Given the description of an element on the screen output the (x, y) to click on. 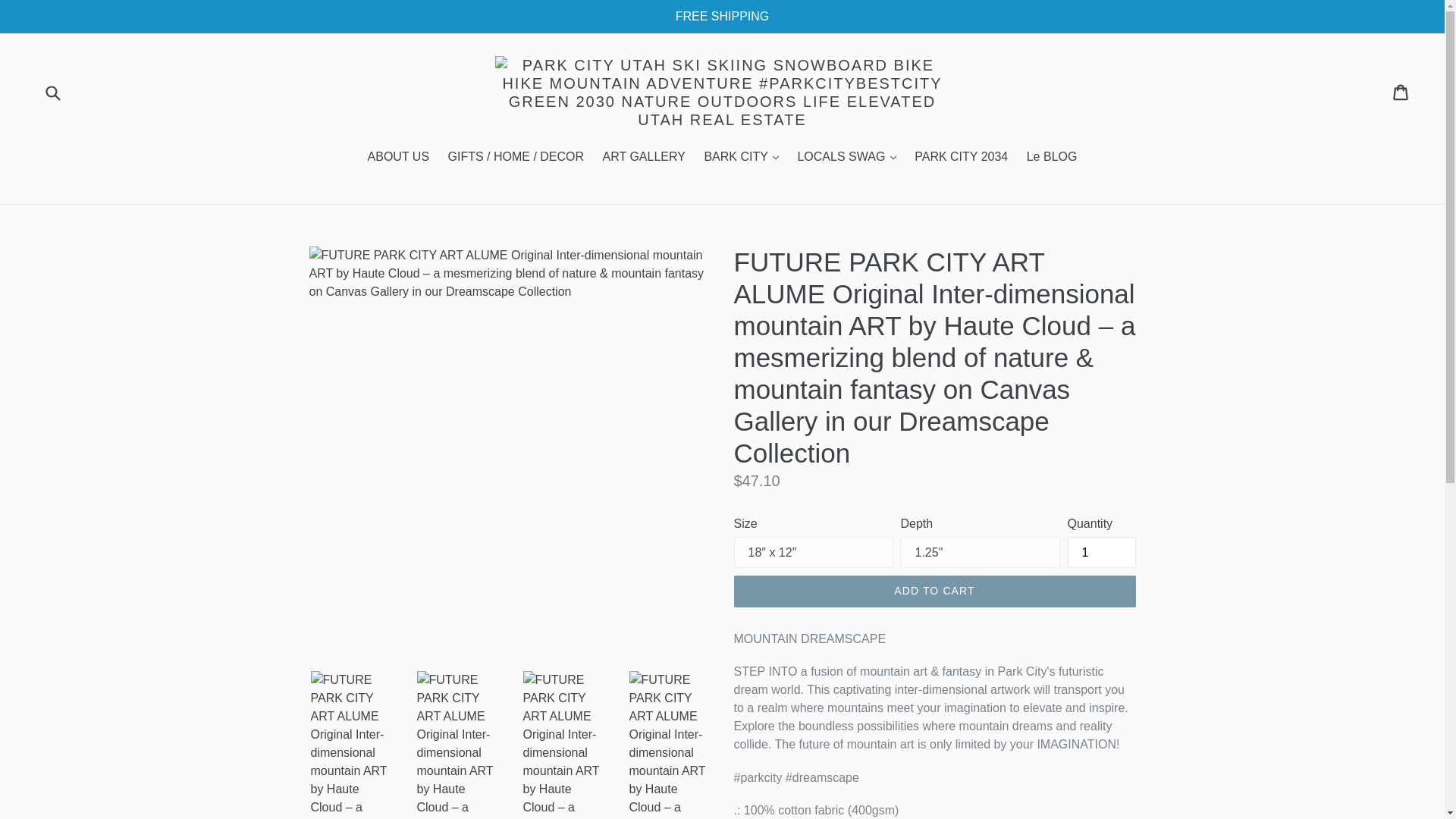
Le BLOG (1051, 158)
ART GALLERY (644, 158)
PARK CITY 2034 (960, 158)
ADD TO CART (934, 591)
ABOUT US (398, 158)
1 (1101, 552)
